Given the description of an element on the screen output the (x, y) to click on. 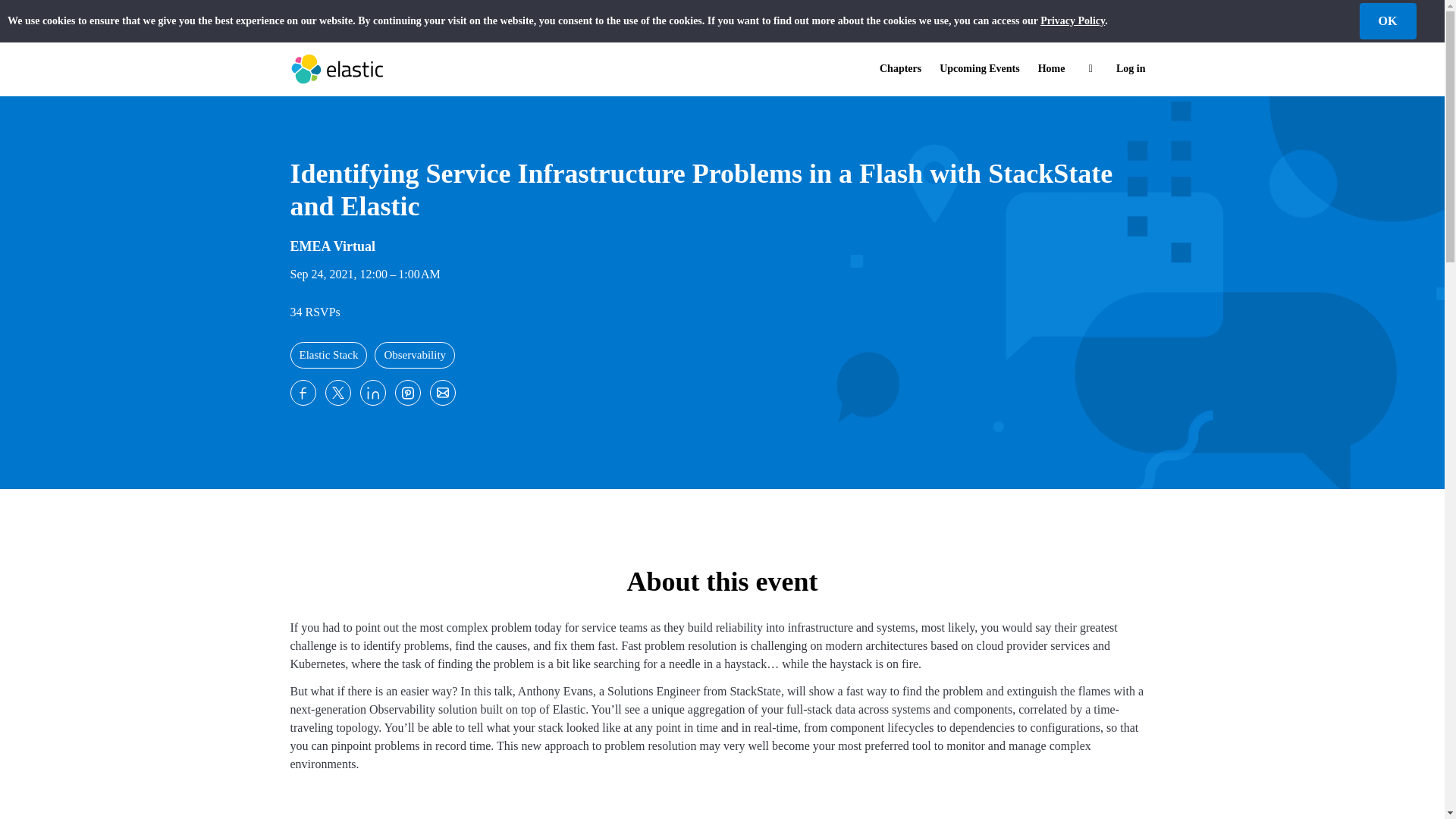
Privacy Policy (1073, 20)
Log in (1130, 68)
Elastic Stack (327, 355)
Upcoming Events (978, 68)
Chapters (900, 68)
Observability (414, 355)
OK (1386, 21)
EMEA Virtual (332, 244)
